Given the description of an element on the screen output the (x, y) to click on. 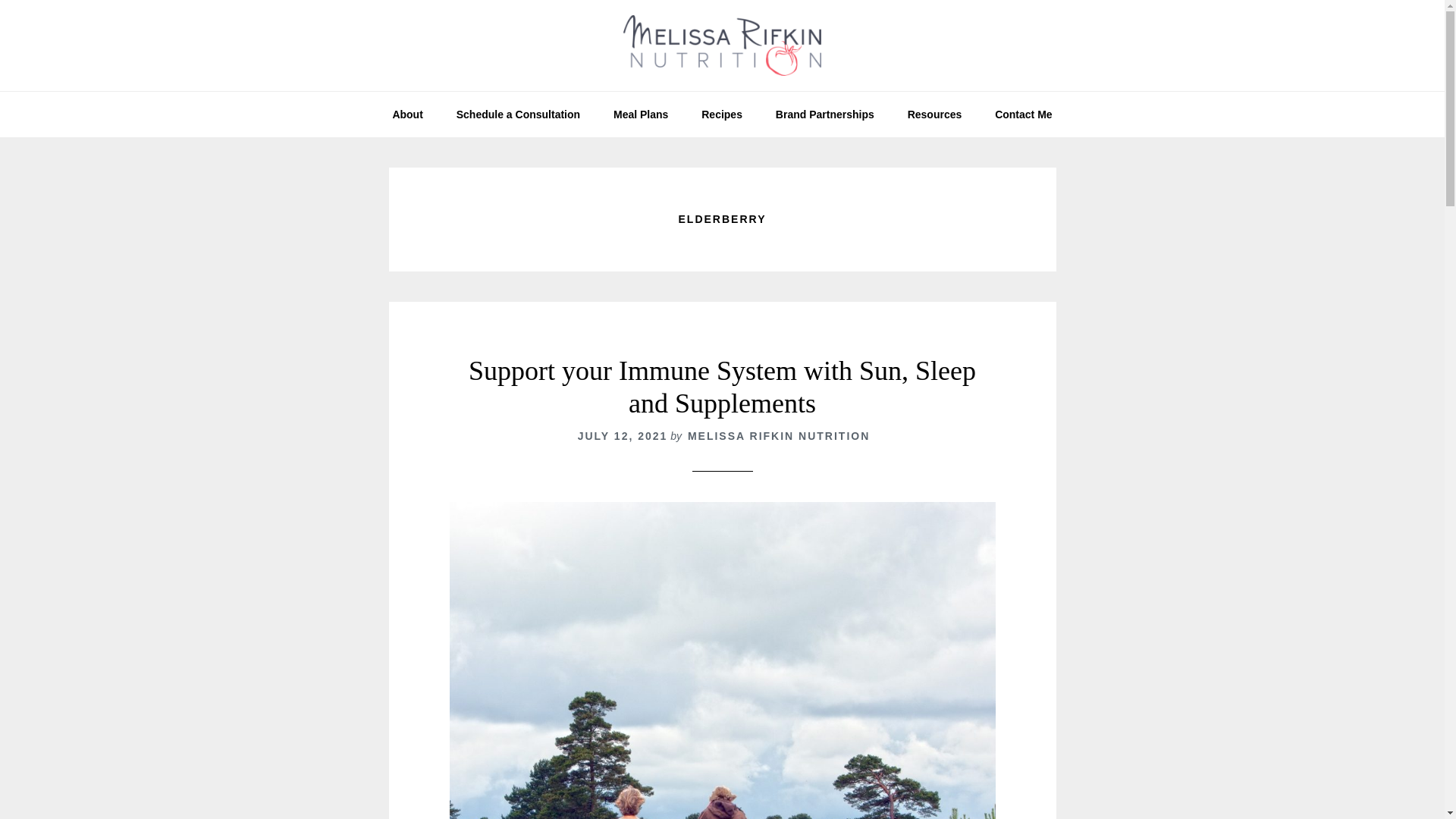
Schedule a Consultation (518, 114)
MELISSA RIFKIN NUTRITION (778, 435)
Melissa Rifkin Nutrition (721, 45)
Contact Me (1023, 114)
Brand Partnerships (824, 114)
Support your Immune System with Sun, Sleep and Supplements (721, 386)
Resources (934, 114)
About (407, 114)
Meal Plans (640, 114)
